Given the description of an element on the screen output the (x, y) to click on. 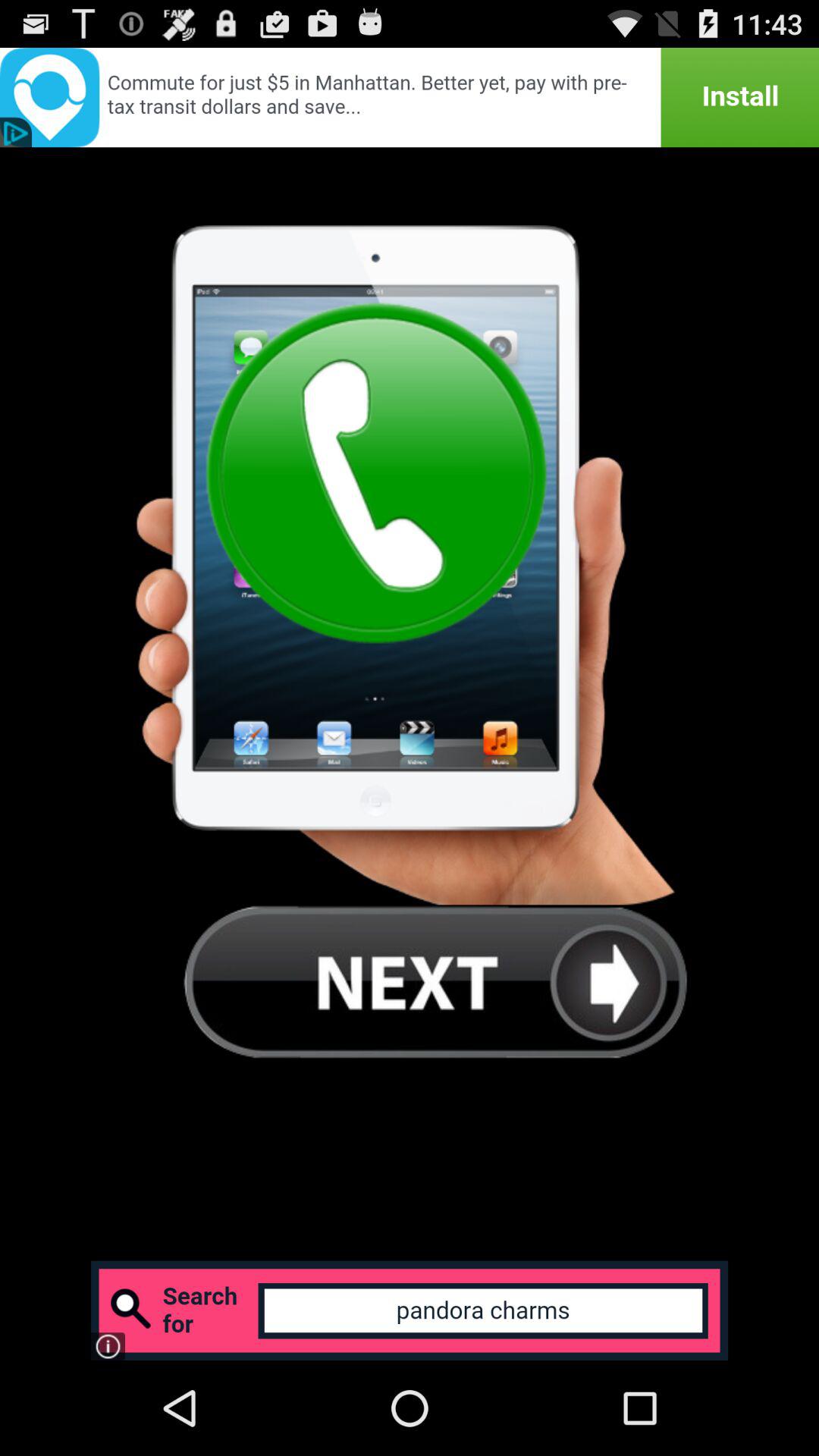
go to the advertisement page (409, 97)
